Given the description of an element on the screen output the (x, y) to click on. 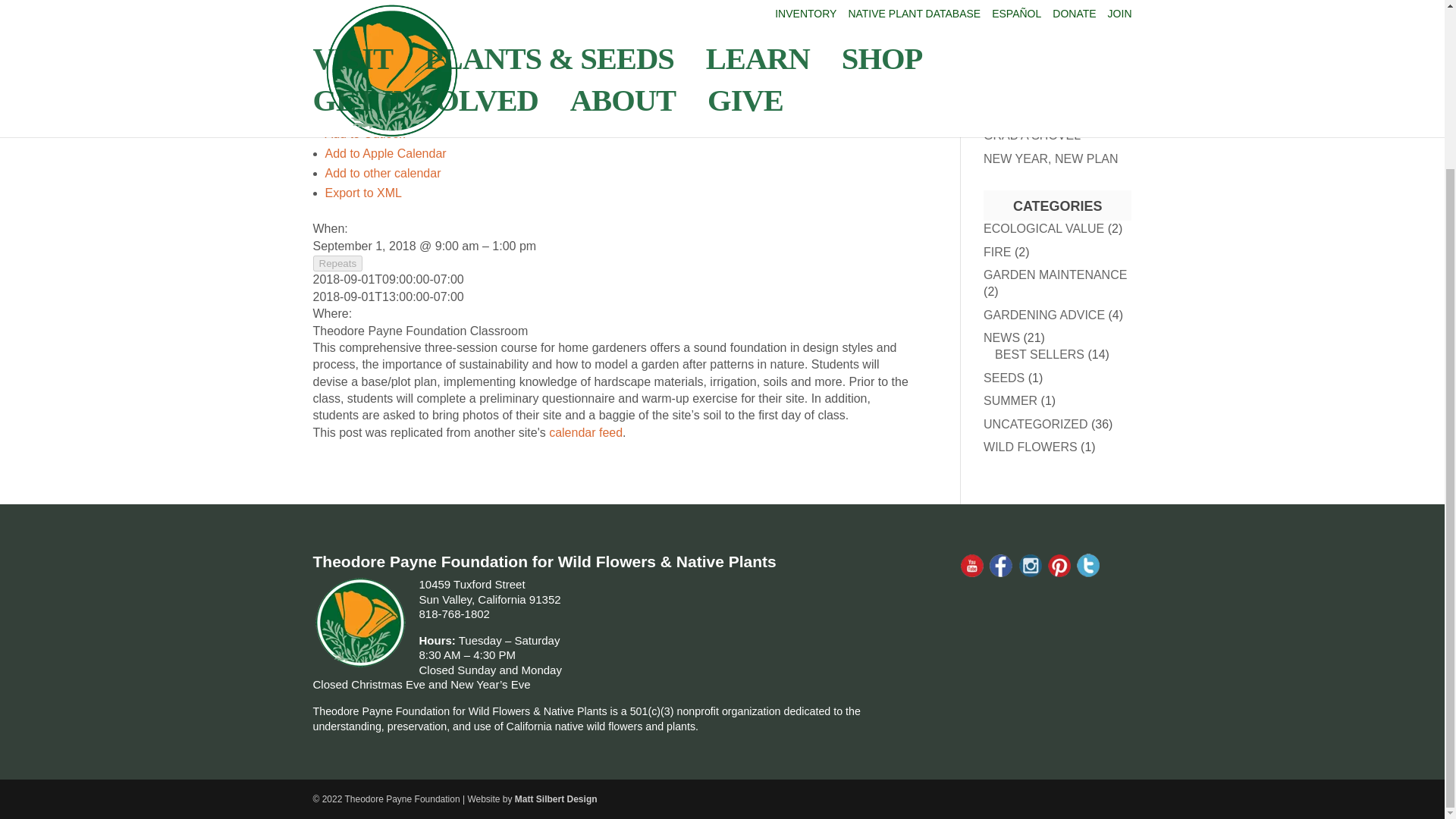
Posts by adminTPF (350, 4)
Subscribe to this calendar in MS Outlook (364, 133)
View all events (337, 58)
Subscribe to this calendar in another plain-text calendar (382, 173)
iCalendar feed (585, 431)
Subscribe to this calendar in your Google Calendar (362, 113)
Every other week on Saturday for 3 occurrences (337, 263)
